Given the description of an element on the screen output the (x, y) to click on. 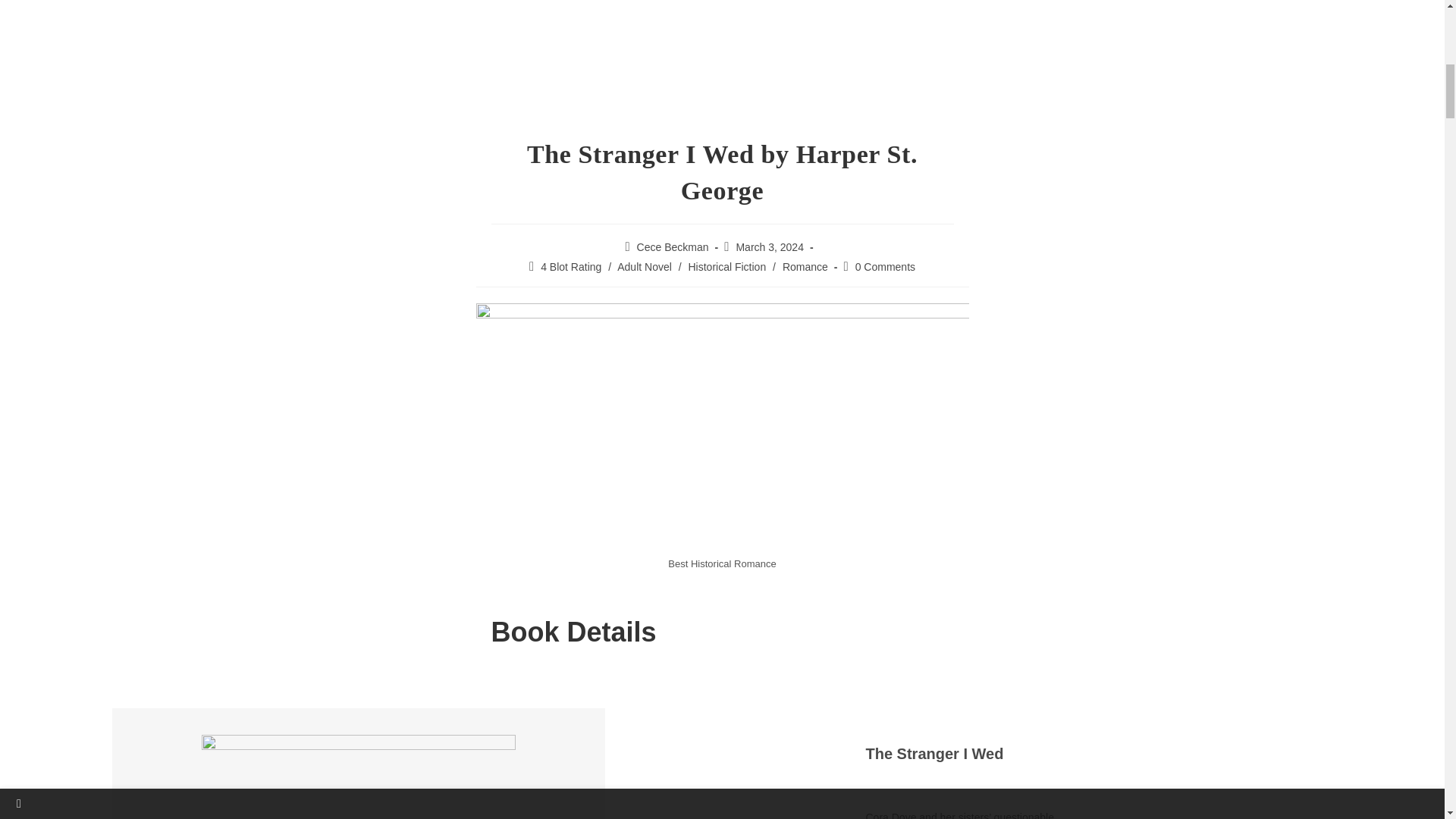
4 Blot Rating (570, 266)
Cece Beckman (673, 246)
Romance (805, 266)
Adult Novel (644, 266)
Posts by Cece Beckman (673, 246)
Historical Fiction (727, 266)
0 Comments (885, 266)
